Given the description of an element on the screen output the (x, y) to click on. 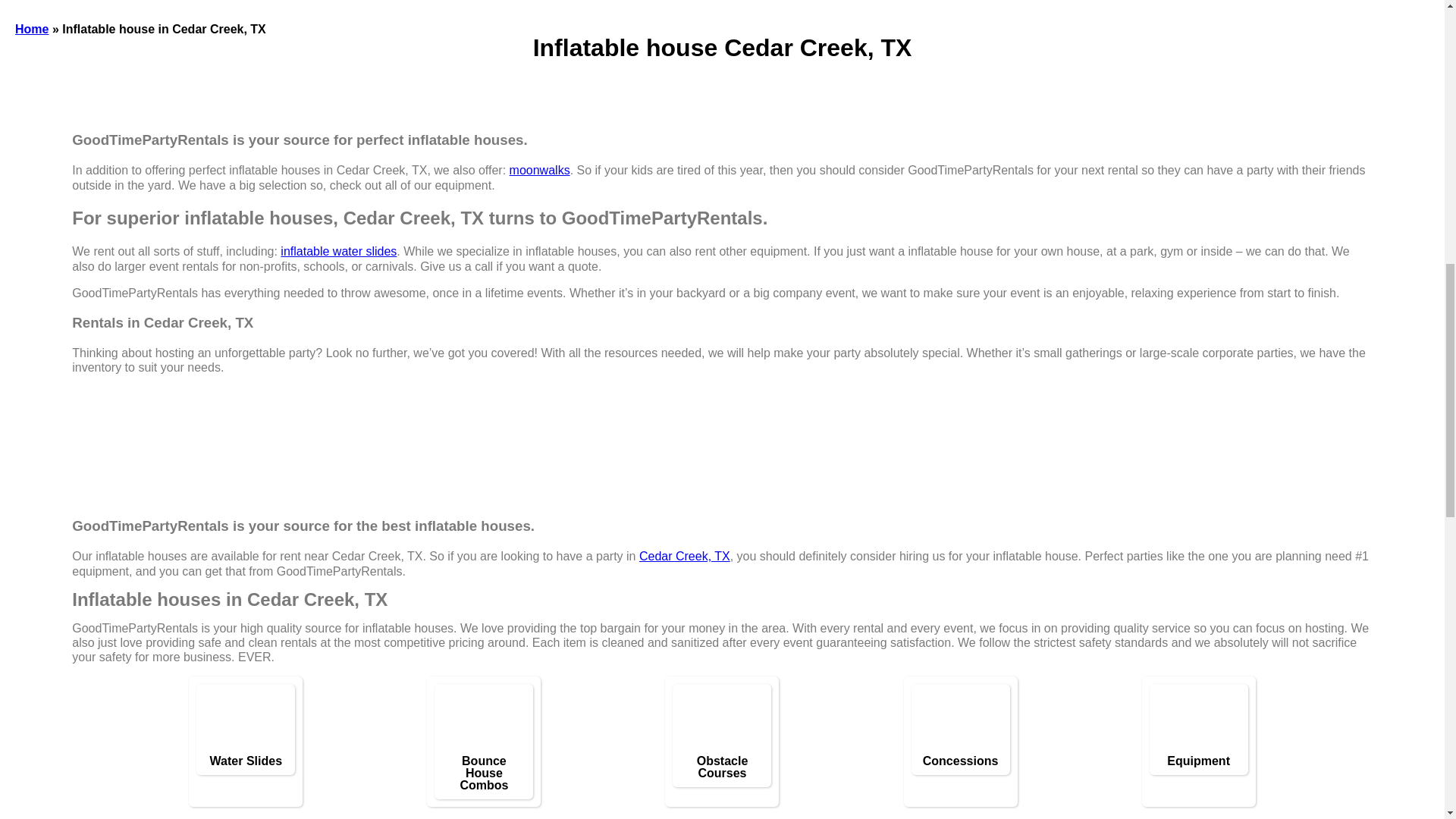
Bounce House Combos (487, 721)
Water Slides (244, 761)
Home (31, 29)
Cedar Creek, TX (684, 555)
Obstacle Courses (720, 767)
Equipment (1202, 721)
Concessions (960, 761)
Equipment (1198, 761)
Concessions (964, 721)
moonwalks (539, 169)
